Given the description of an element on the screen output the (x, y) to click on. 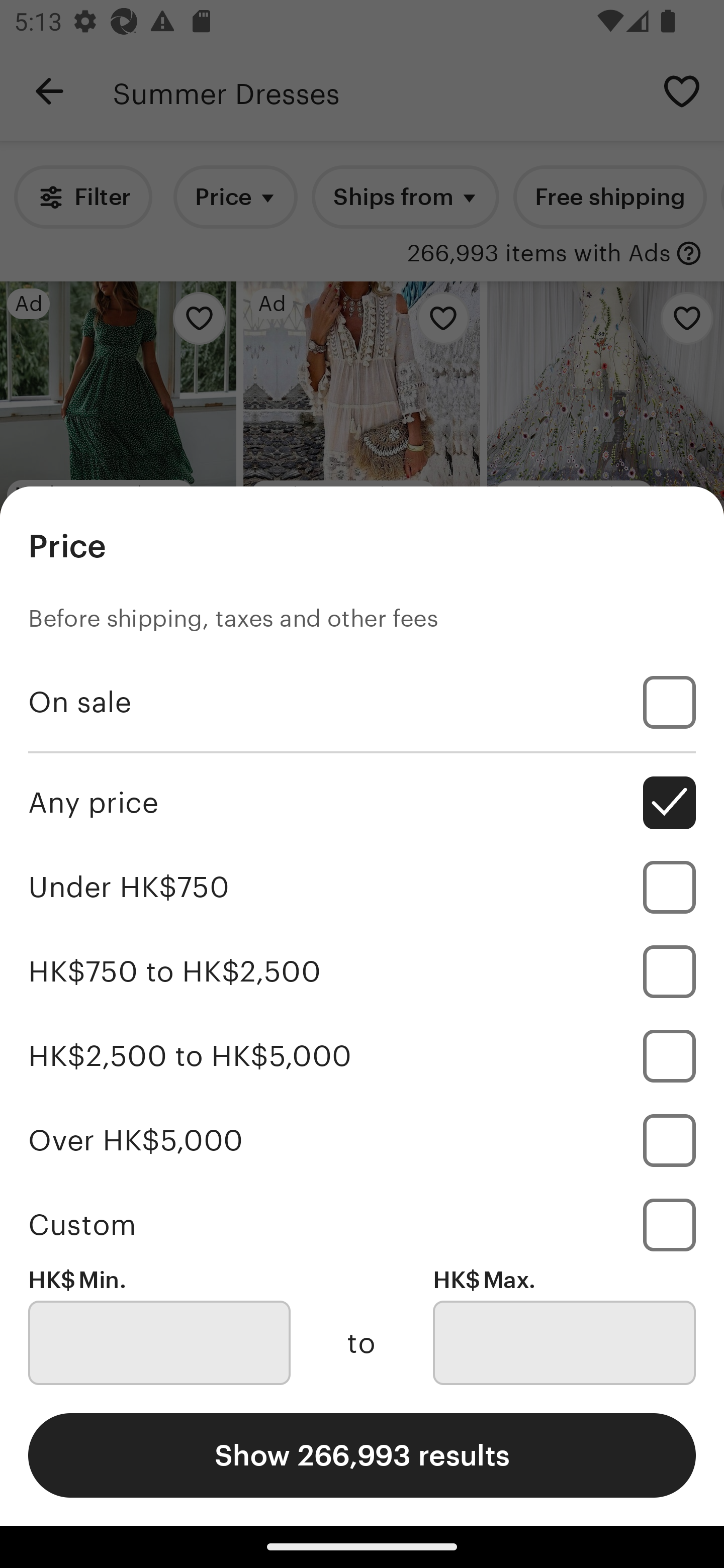
On sale (362, 702)
Any price (362, 802)
Under HK$750 (362, 887)
HK$750 to HK$2,500 (362, 970)
HK$2,500 to HK$5,000 (362, 1054)
Over HK$5,000 (362, 1139)
Custom (362, 1224)
Show 266,993 results (361, 1454)
